Given the description of an element on the screen output the (x, y) to click on. 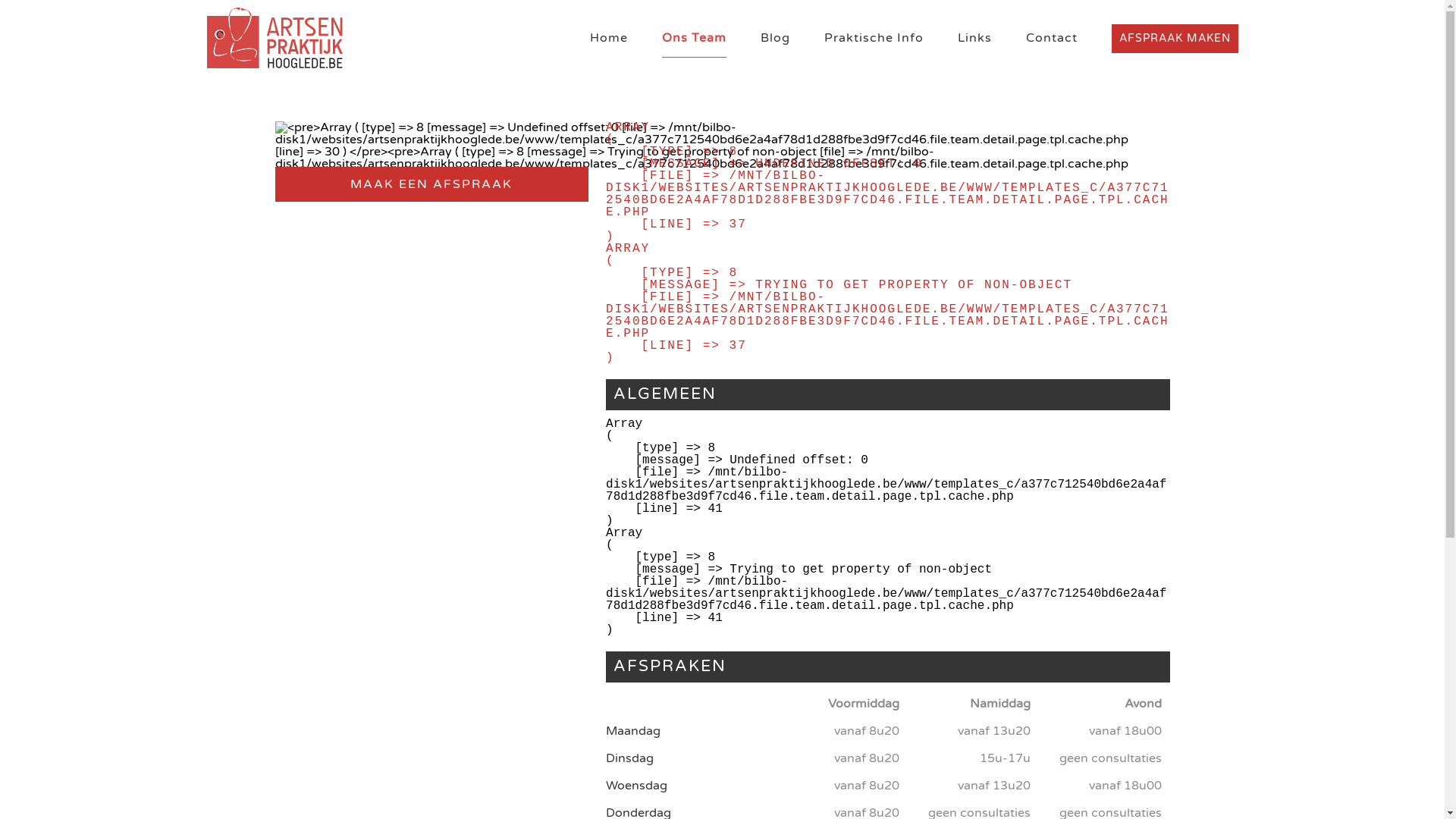
Blog Element type: text (774, 37)
AFSPRAAK MAKEN Element type: text (1174, 38)
Links Element type: text (974, 37)
Praktische Info Element type: text (872, 37)
Home Element type: text (608, 37)
MAAK EEN AFSPRAAK Element type: text (430, 183)
Contact Element type: text (1050, 37)
Ons Team Element type: text (693, 37)
